Given the description of an element on the screen output the (x, y) to click on. 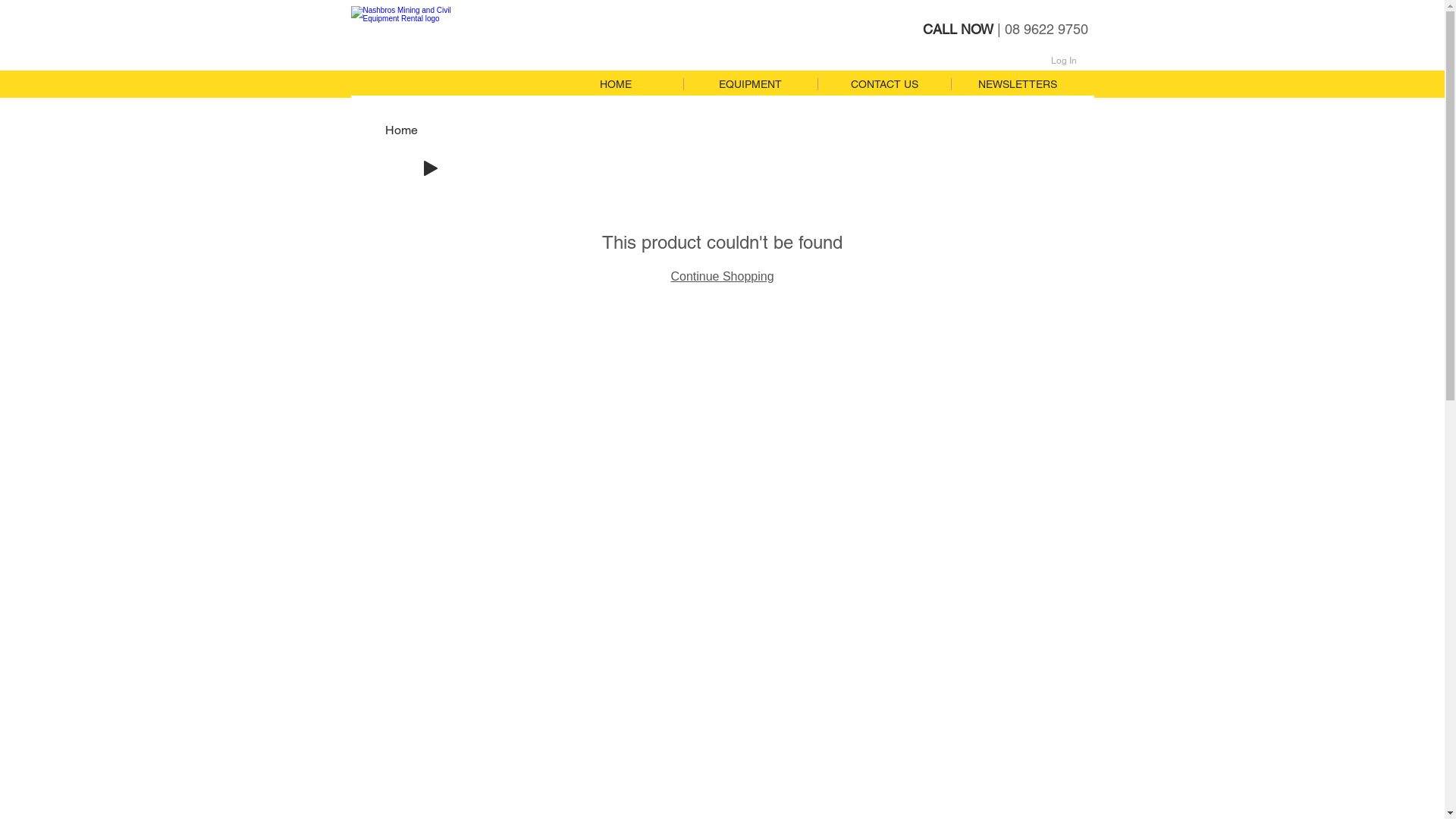
Log In Element type: text (1063, 61)
Continue Shopping Element type: text (721, 275)
CONTACT US Element type: text (883, 84)
HOME Element type: text (616, 84)
NEWSLETTERS Element type: text (1017, 84)
EQUIPMENT Element type: text (749, 84)
Home Element type: text (401, 129)
